Given the description of an element on the screen output the (x, y) to click on. 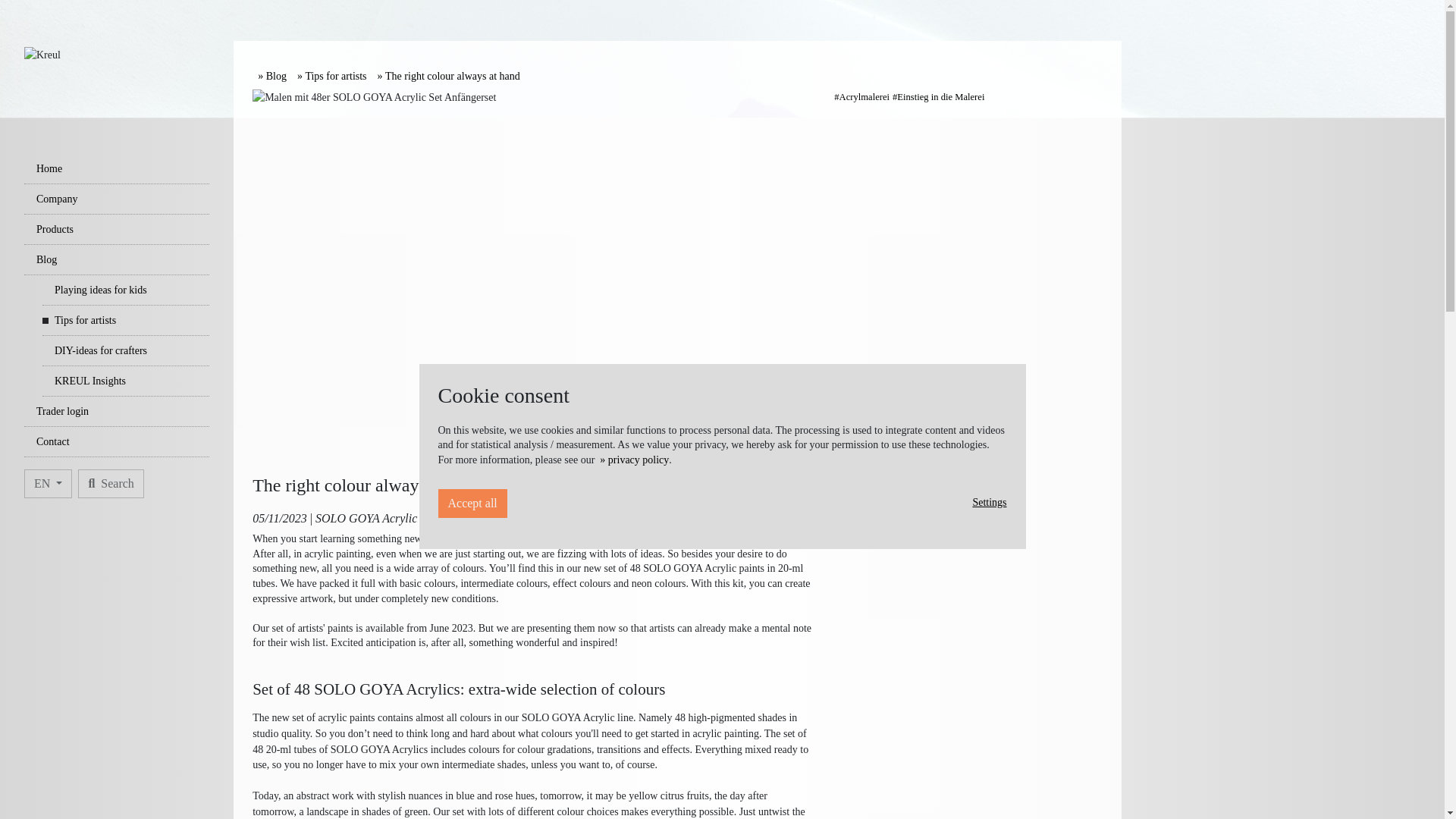
Playing ideas for kids (125, 290)
Home (116, 168)
Blog (116, 259)
The right colour always at hand (448, 75)
EN (47, 483)
Tips for artists (125, 320)
DIY-ideas for crafters (125, 350)
Company (116, 199)
Blog (271, 75)
KREUL Insights (125, 381)
